Given the description of an element on the screen output the (x, y) to click on. 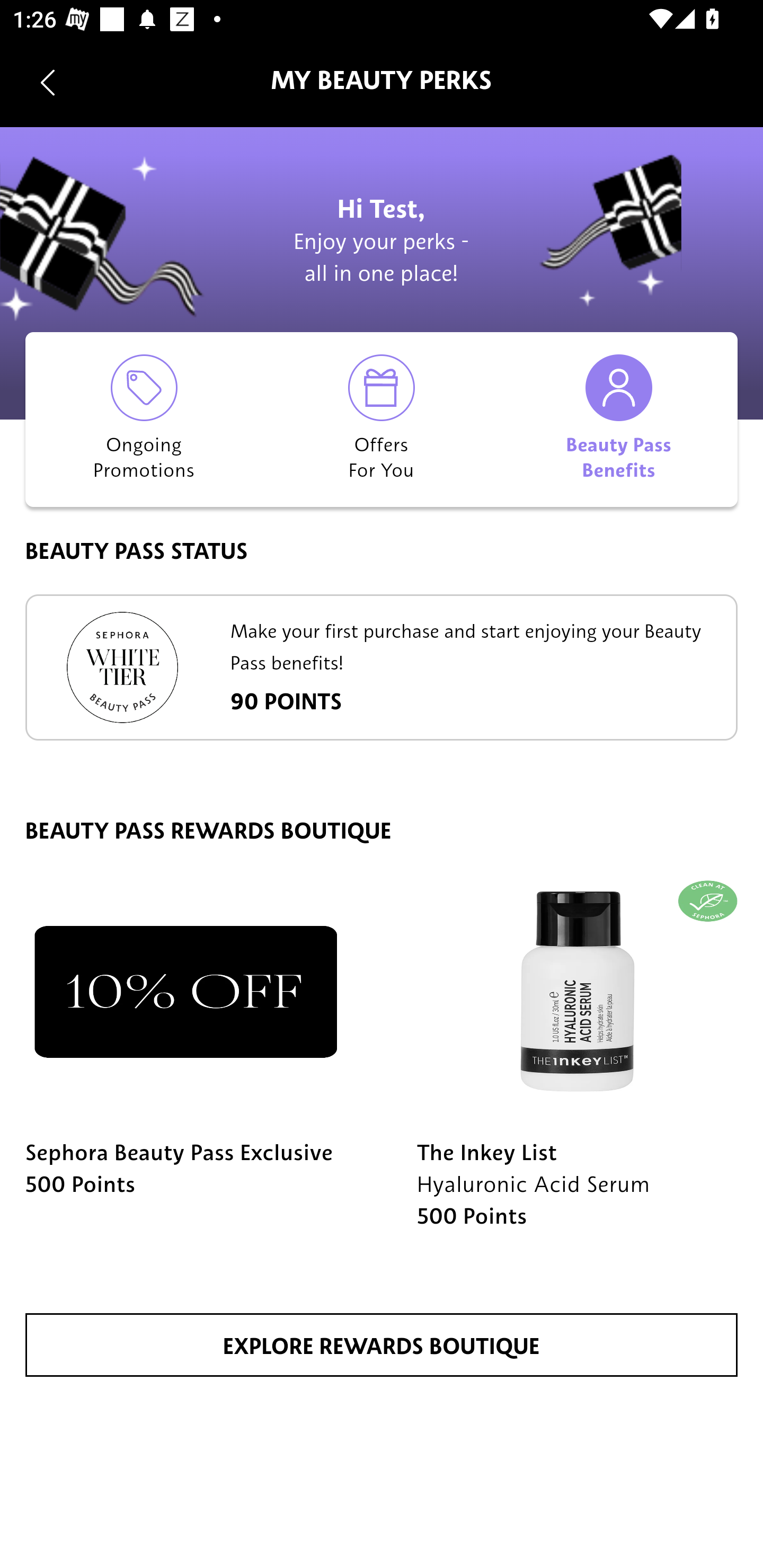
Ongoing Promotions (143, 419)
Offers
For You (381, 419)
Beauty Pass Benefits (619, 419)
EXPLORE REWARDS BOUTIQUE (381, 1345)
